Given the description of an element on the screen output the (x, y) to click on. 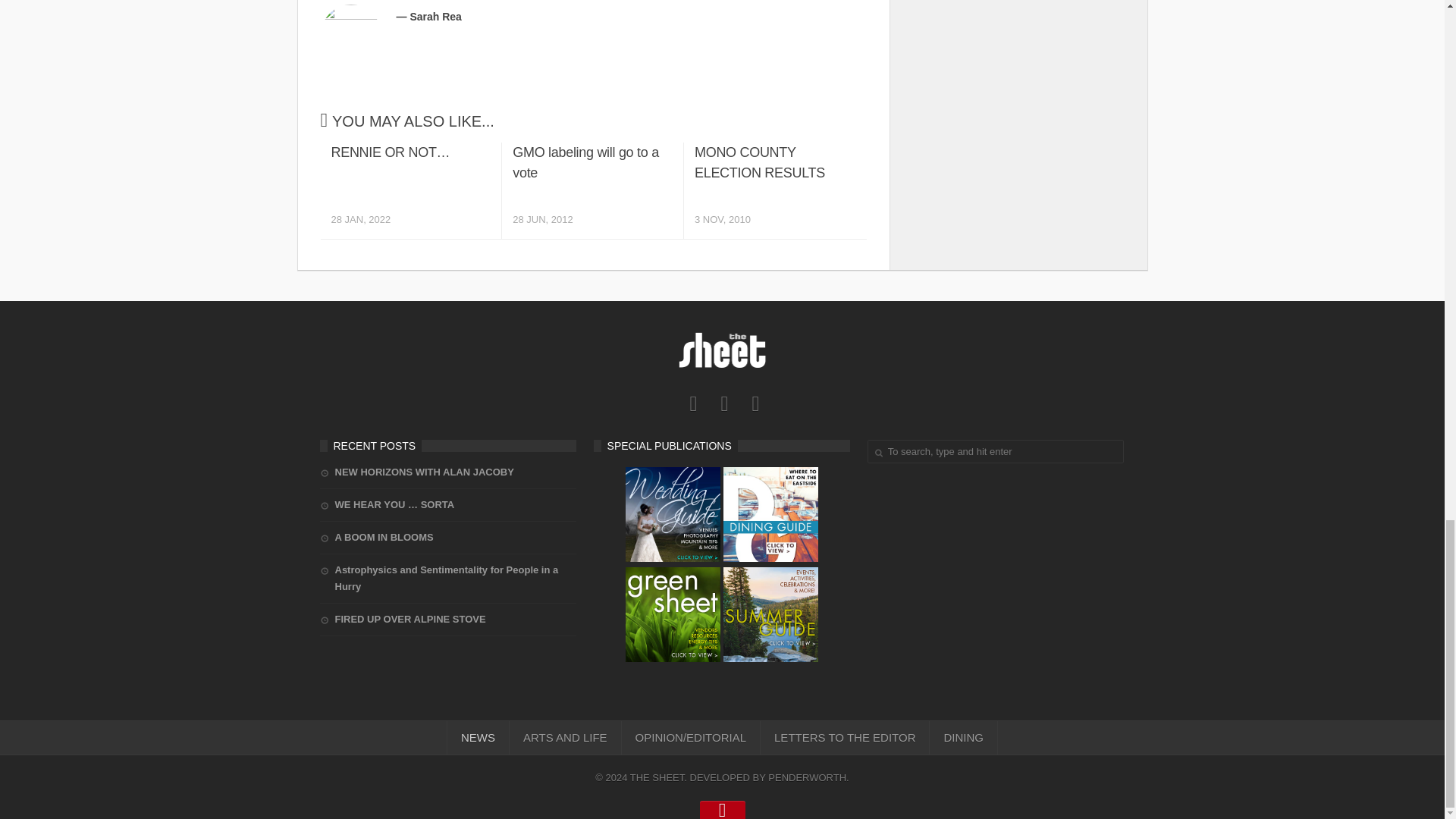
NEW HORIZONS WITH ALAN JACOBY (416, 472)
To search, type and hit enter (995, 451)
To search, type and hit enter (995, 451)
RSS feed (755, 403)
The Sheet on Facebook (592, 190)
Follow The Sheet on Twitter (774, 190)
